Given the description of an element on the screen output the (x, y) to click on. 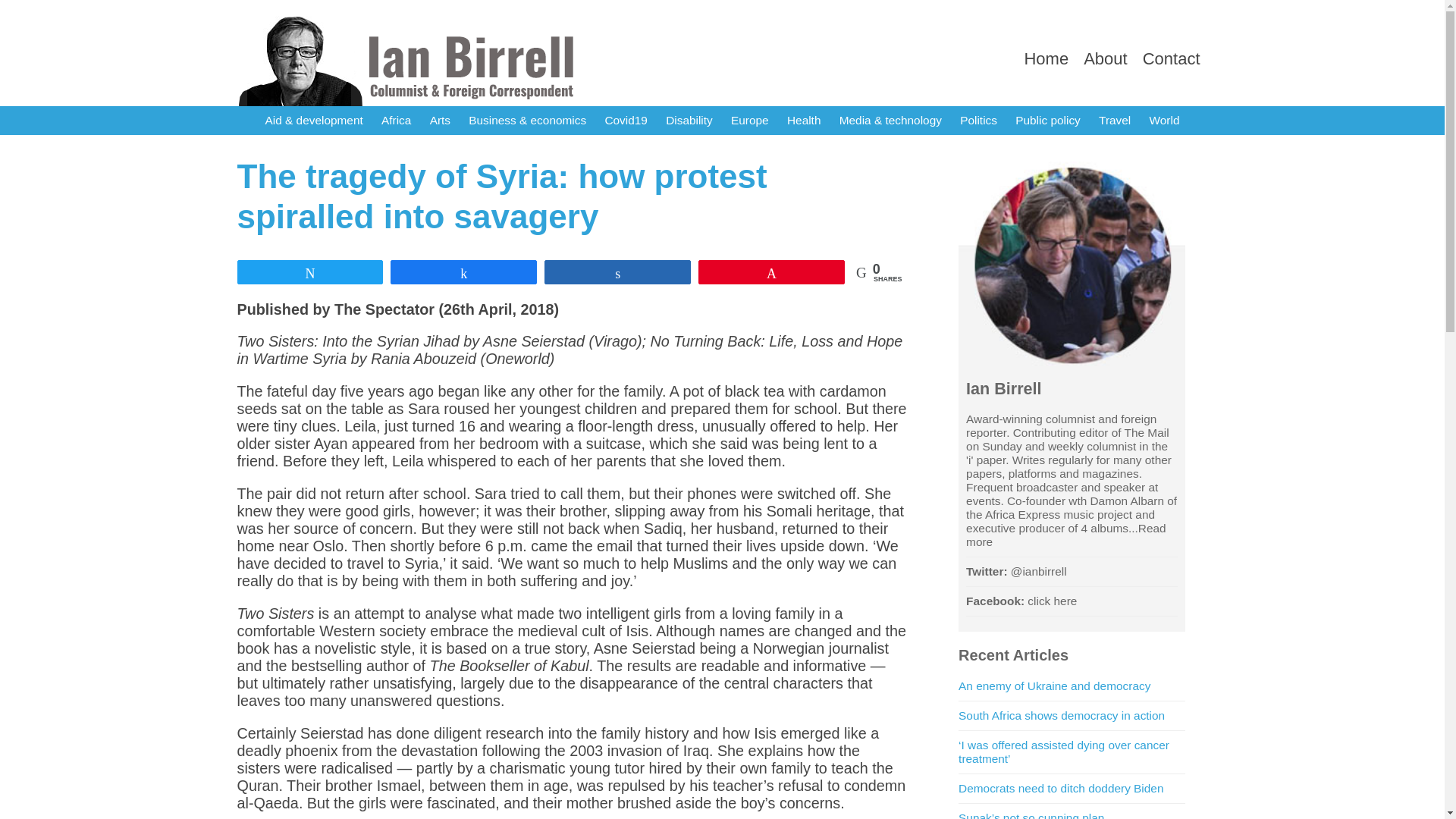
Covid19 (625, 120)
Home (1045, 58)
Contact (1170, 58)
Arts (439, 120)
Africa (395, 120)
About (1104, 58)
Disability (689, 120)
